Given the description of an element on the screen output the (x, y) to click on. 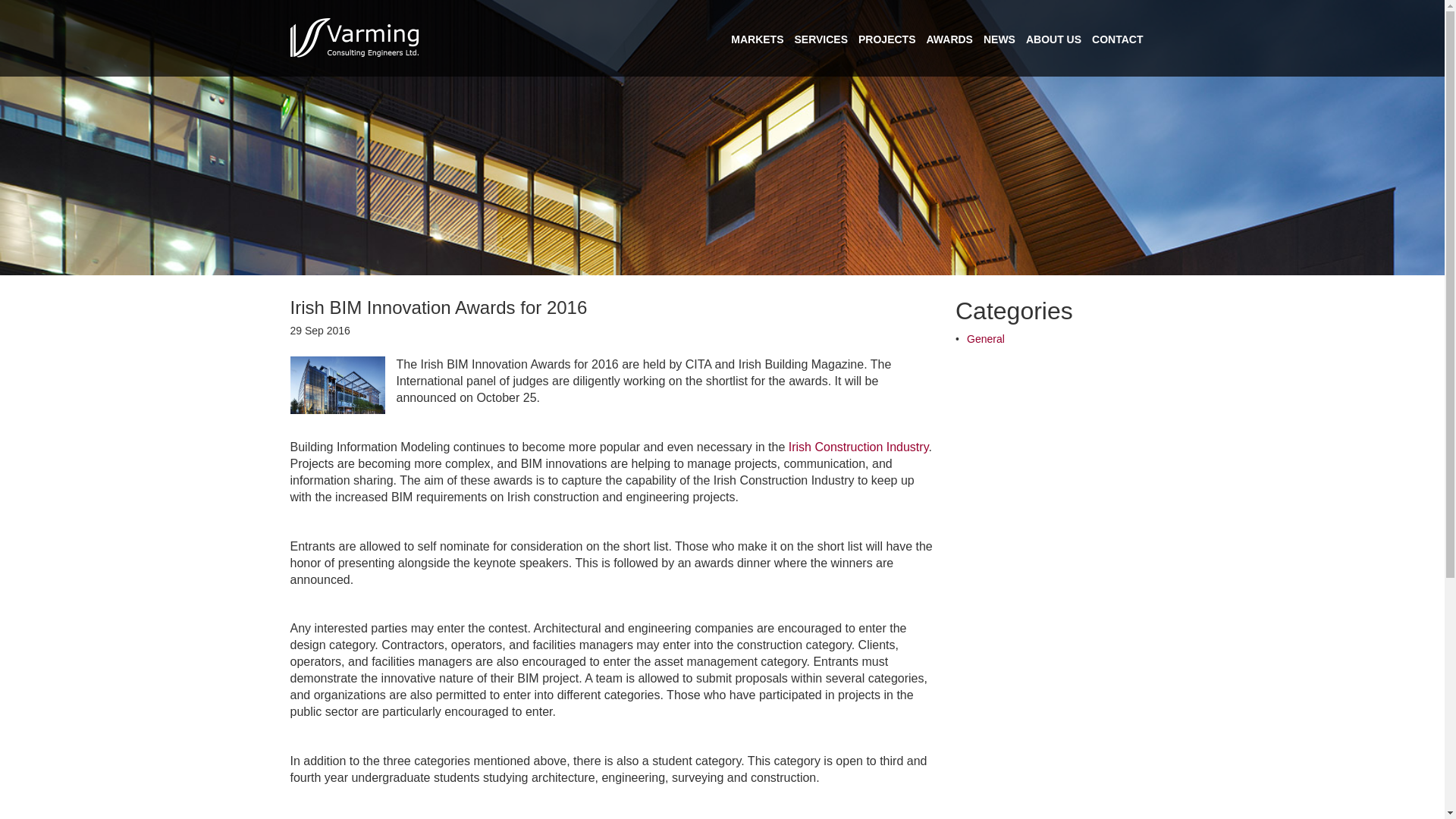
Irish Construction Industry (858, 446)
ABOUT US (1053, 39)
AWARDS (949, 39)
Varming Consulting Engineers (354, 38)
CONTACT (1117, 39)
PROJECTS (887, 39)
SERVICES (820, 39)
NEWS (999, 39)
MARKETS (756, 39)
General (985, 338)
